Given the description of an element on the screen output the (x, y) to click on. 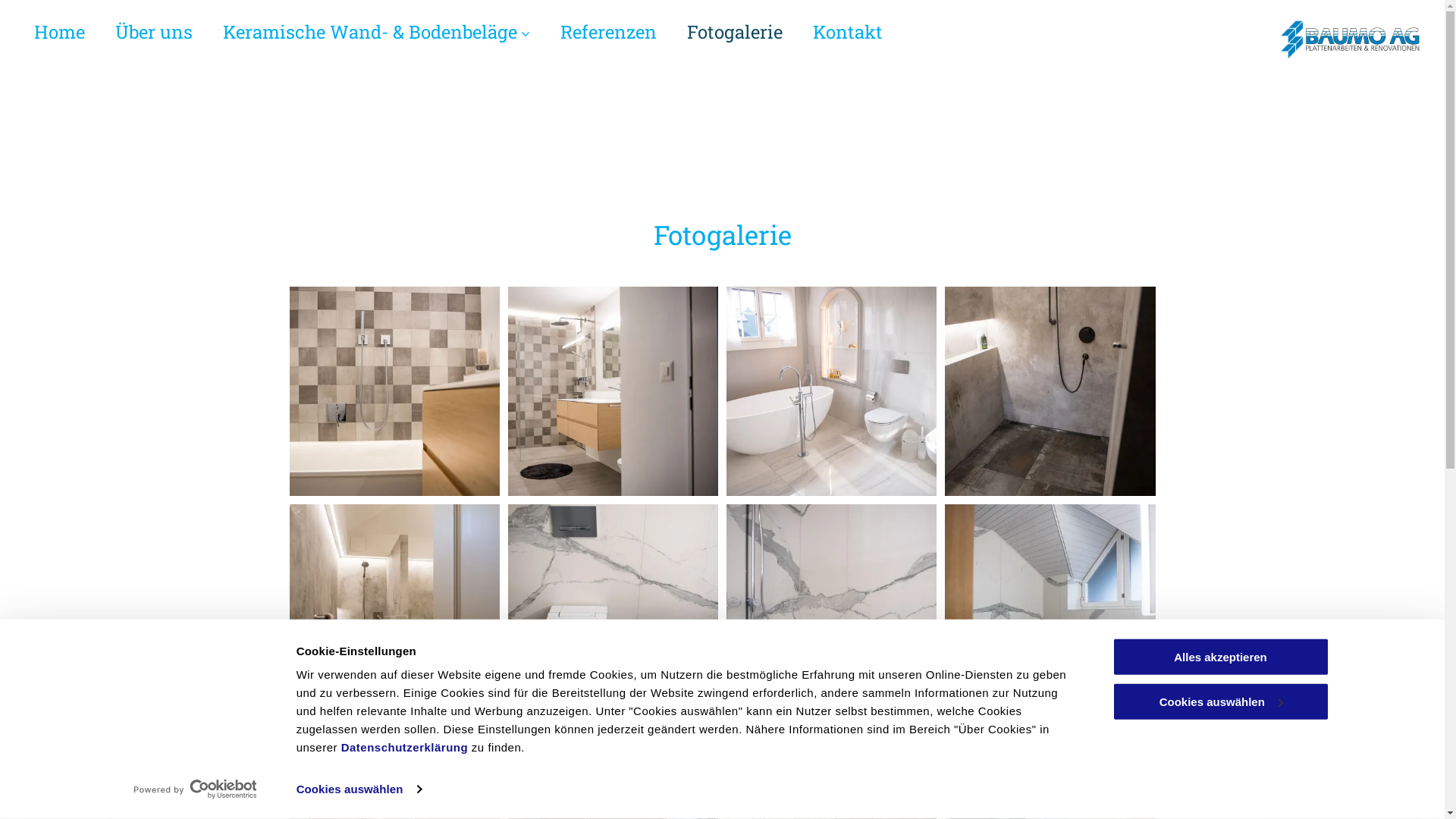
Alles akzeptieren Element type: text (1219, 656)
Kontakt Element type: text (847, 39)
Referenzen Element type: text (608, 39)
Fotogalerie Element type: text (734, 39)
Home Element type: text (59, 39)
